Given the description of an element on the screen output the (x, y) to click on. 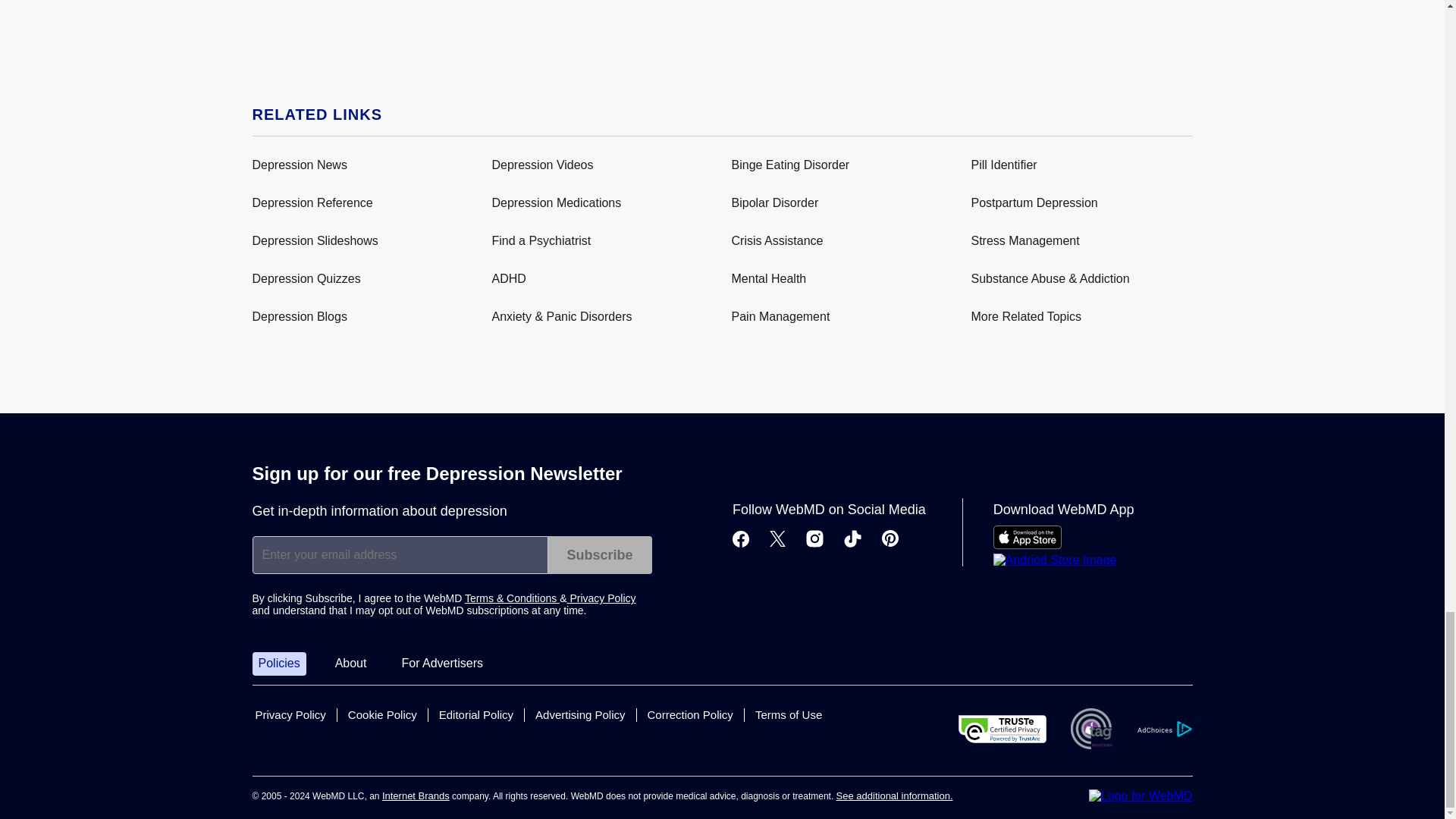
WebMD: Better information. Better health. (1140, 796)
Adchoices (1163, 729)
TAG Registered Seal (1091, 728)
TRUSTe Privacy Certification (1002, 728)
